Given the description of an element on the screen output the (x, y) to click on. 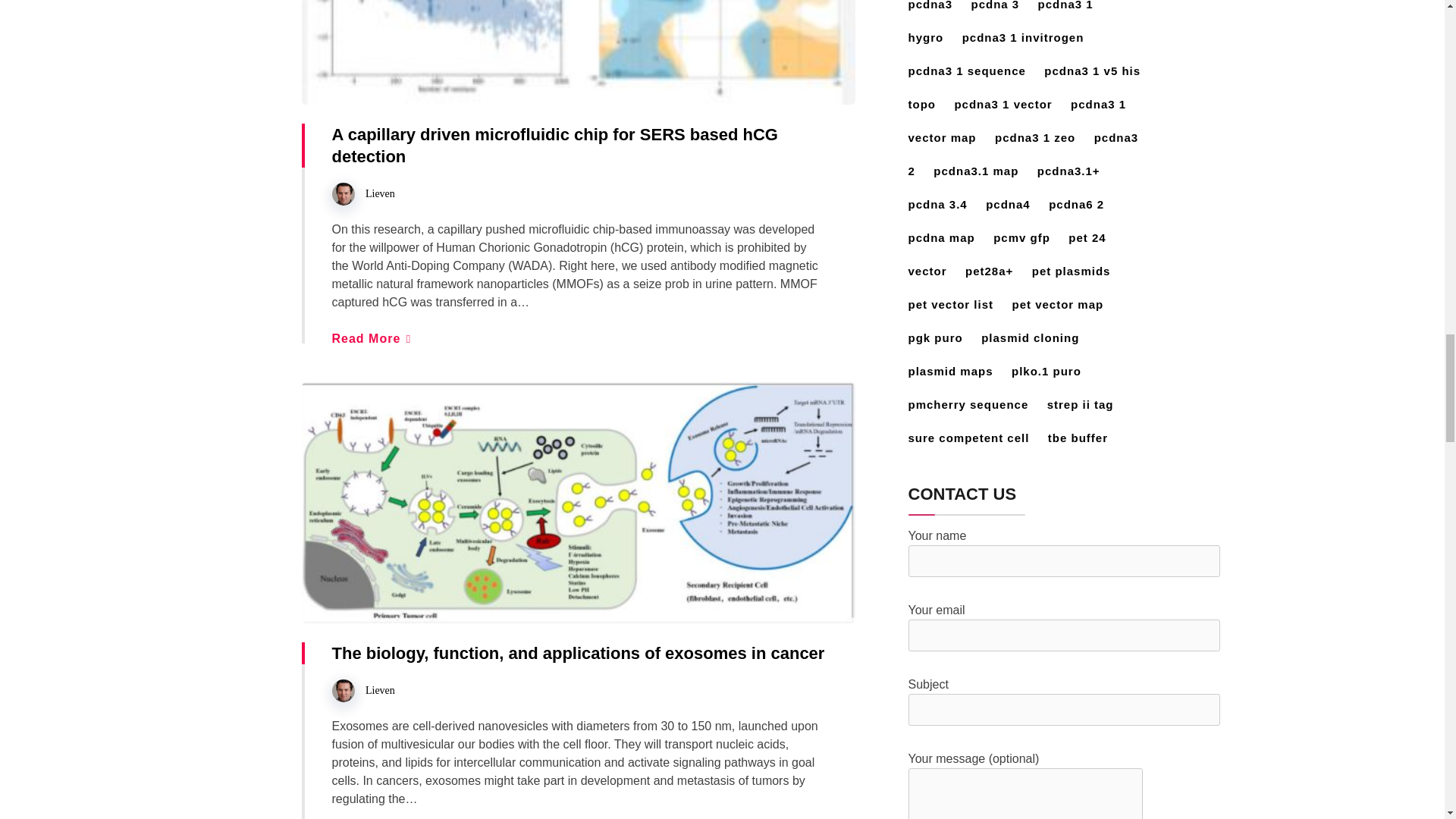
Lieven (379, 690)
Read More (370, 338)
Lieven (379, 193)
